Given the description of an element on the screen output the (x, y) to click on. 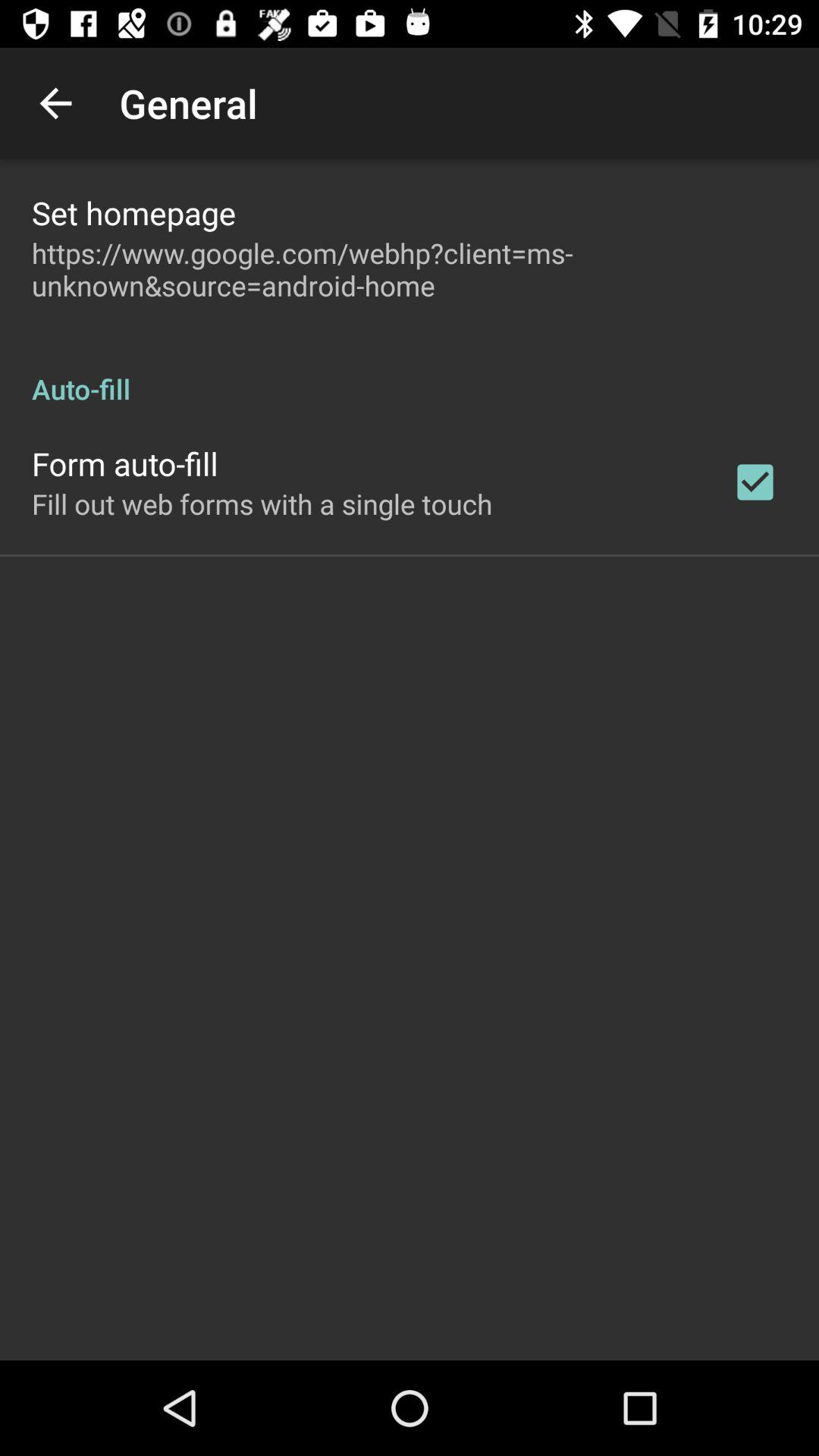
press fill out web on the left (261, 503)
